Given the description of an element on the screen output the (x, y) to click on. 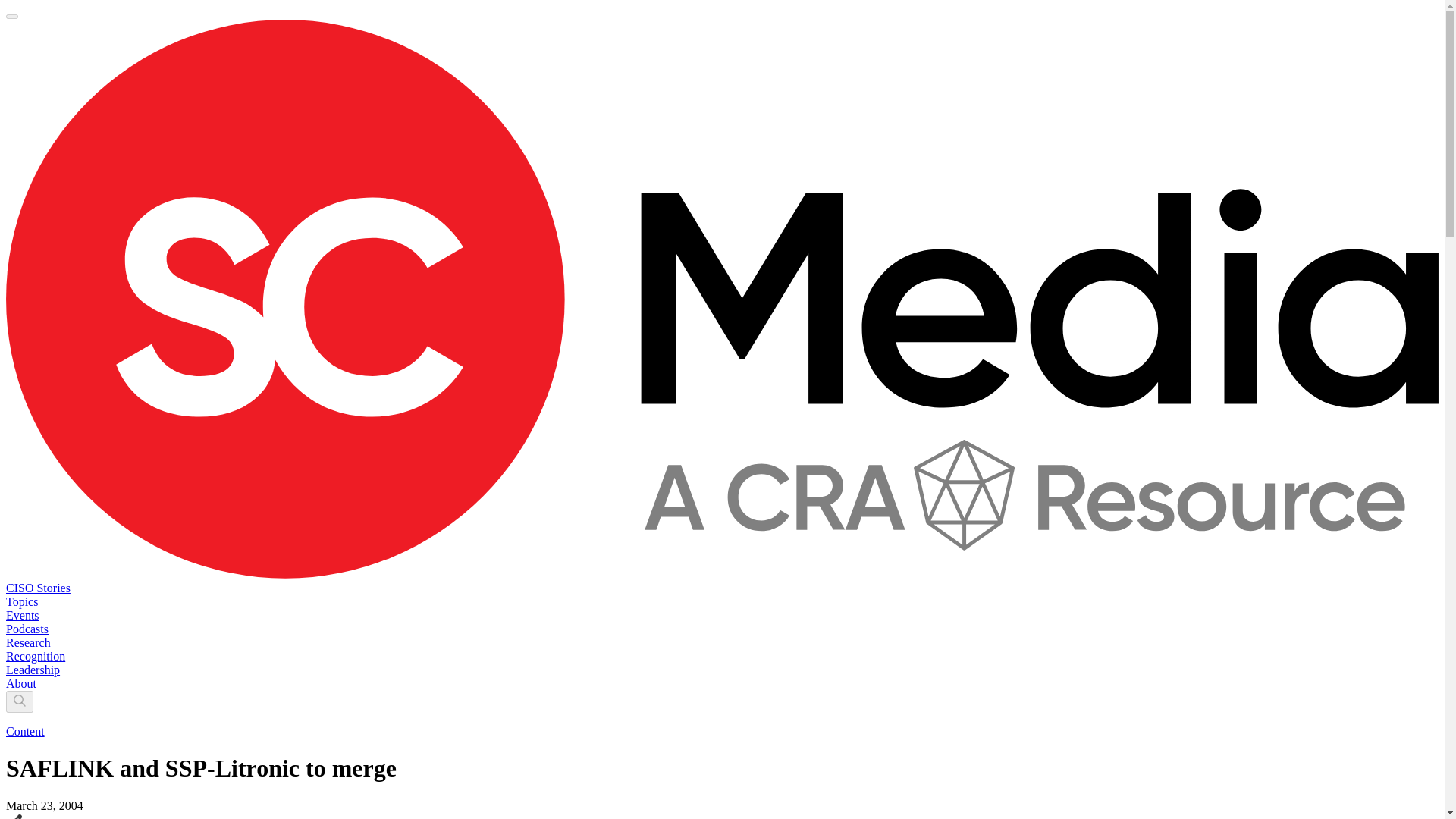
Content (25, 730)
Podcasts (26, 628)
Topics (21, 601)
CISO Stories (37, 587)
Recognition (35, 656)
Leadership (32, 669)
About (20, 683)
Events (22, 615)
Research (27, 642)
